Given the description of an element on the screen output the (x, y) to click on. 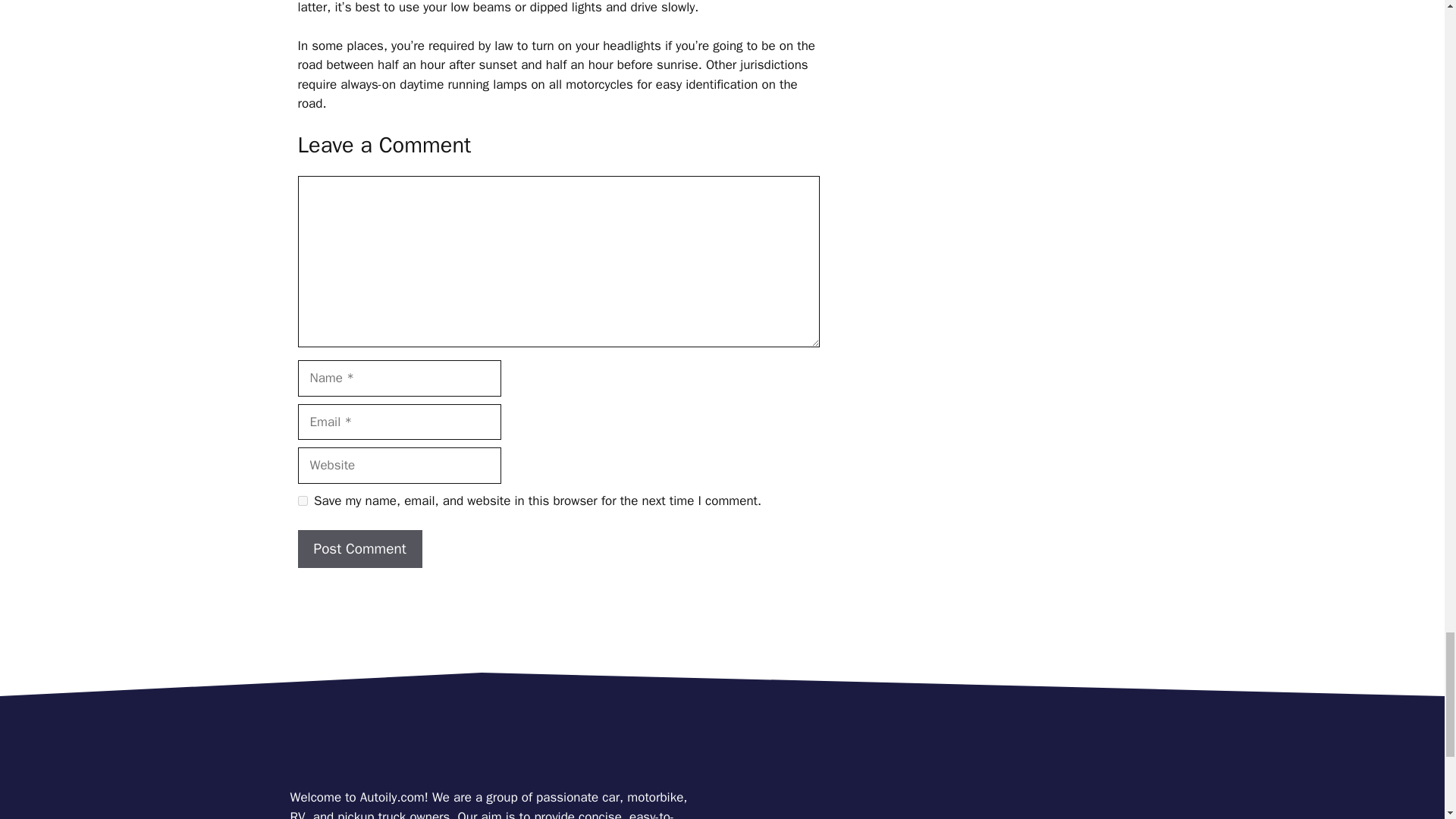
Post Comment (359, 548)
yes (302, 501)
Post Comment (359, 548)
